Given the description of an element on the screen output the (x, y) to click on. 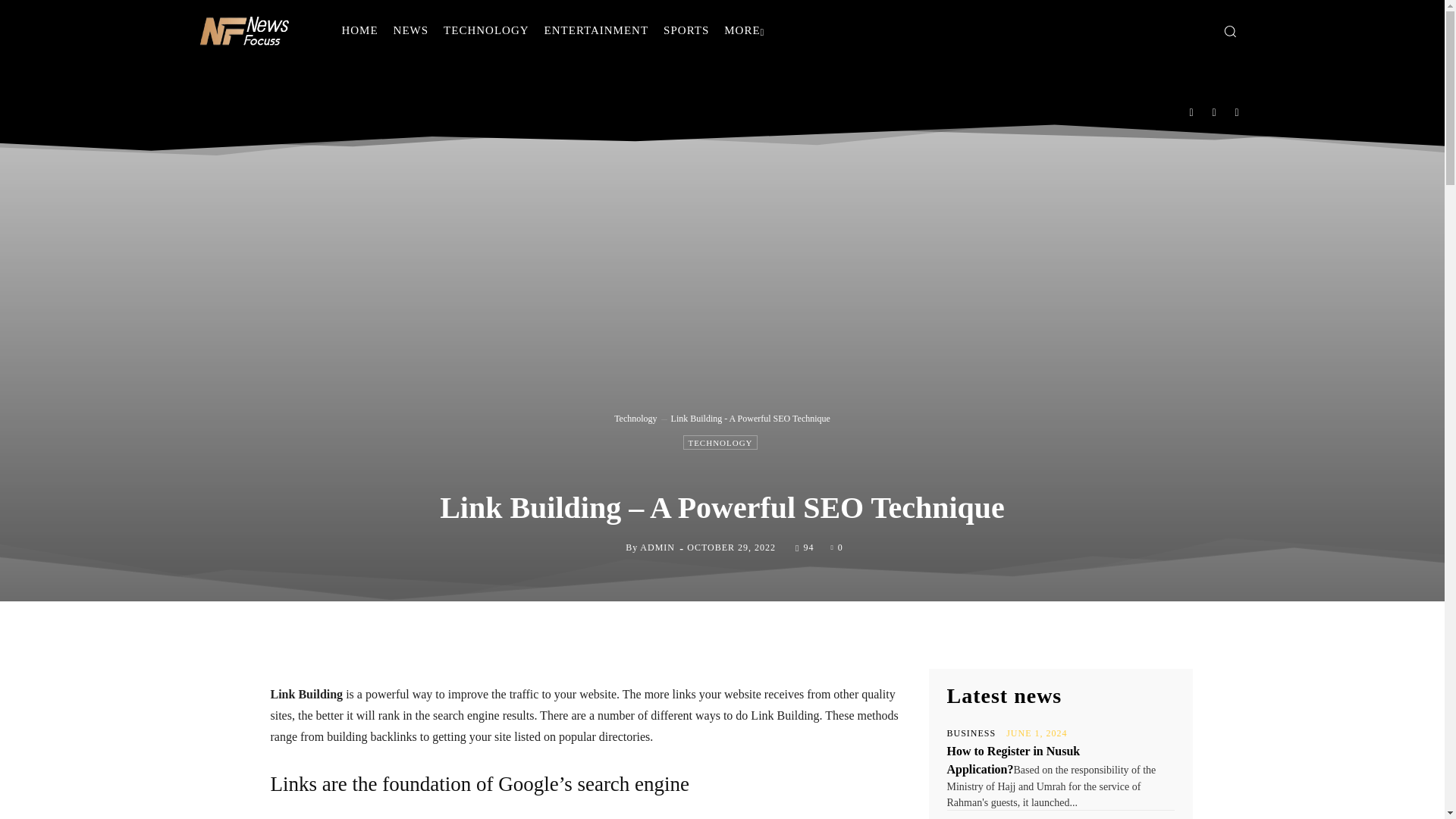
TECHNOLOGY (719, 441)
Instagram (1214, 111)
Technology (635, 418)
View all posts in Technology (635, 418)
HOME (359, 30)
0 (836, 546)
TECHNOLOGY (486, 30)
ENTERTAINMENT (596, 30)
Admin (613, 547)
NEWS (410, 30)
ADMIN (657, 547)
MORE (743, 30)
Twitter (1237, 111)
SPORTS (686, 30)
Facebook (1191, 111)
